Given the description of an element on the screen output the (x, y) to click on. 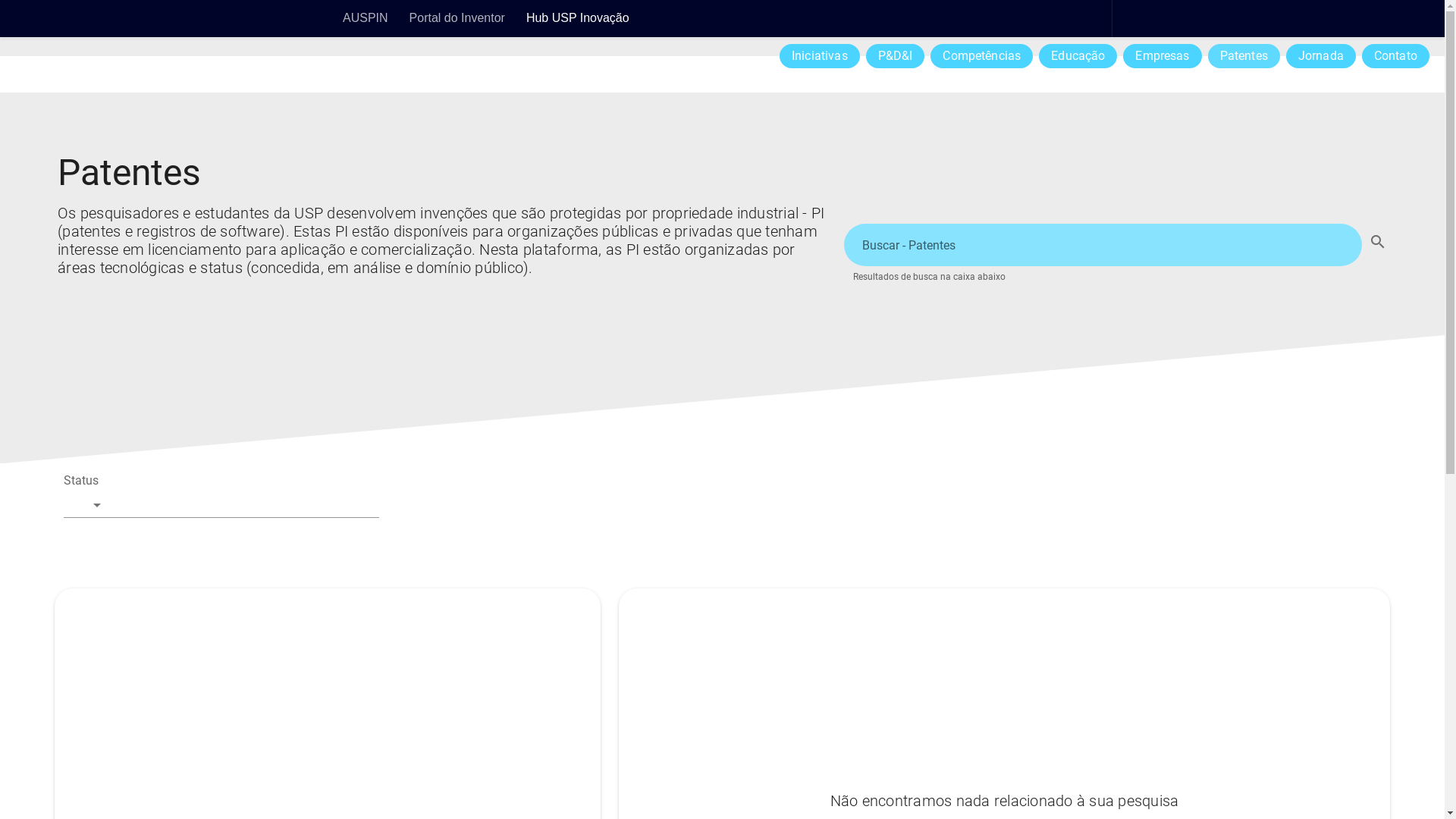
P&D&I Element type: text (895, 55)
Patentes Element type: text (1244, 55)
Empresas Element type: text (1162, 55)
Iniciativas Element type: text (819, 55)
Jornada Element type: text (1320, 55)
Contato Element type: text (1395, 55)
